Given the description of an element on the screen output the (x, y) to click on. 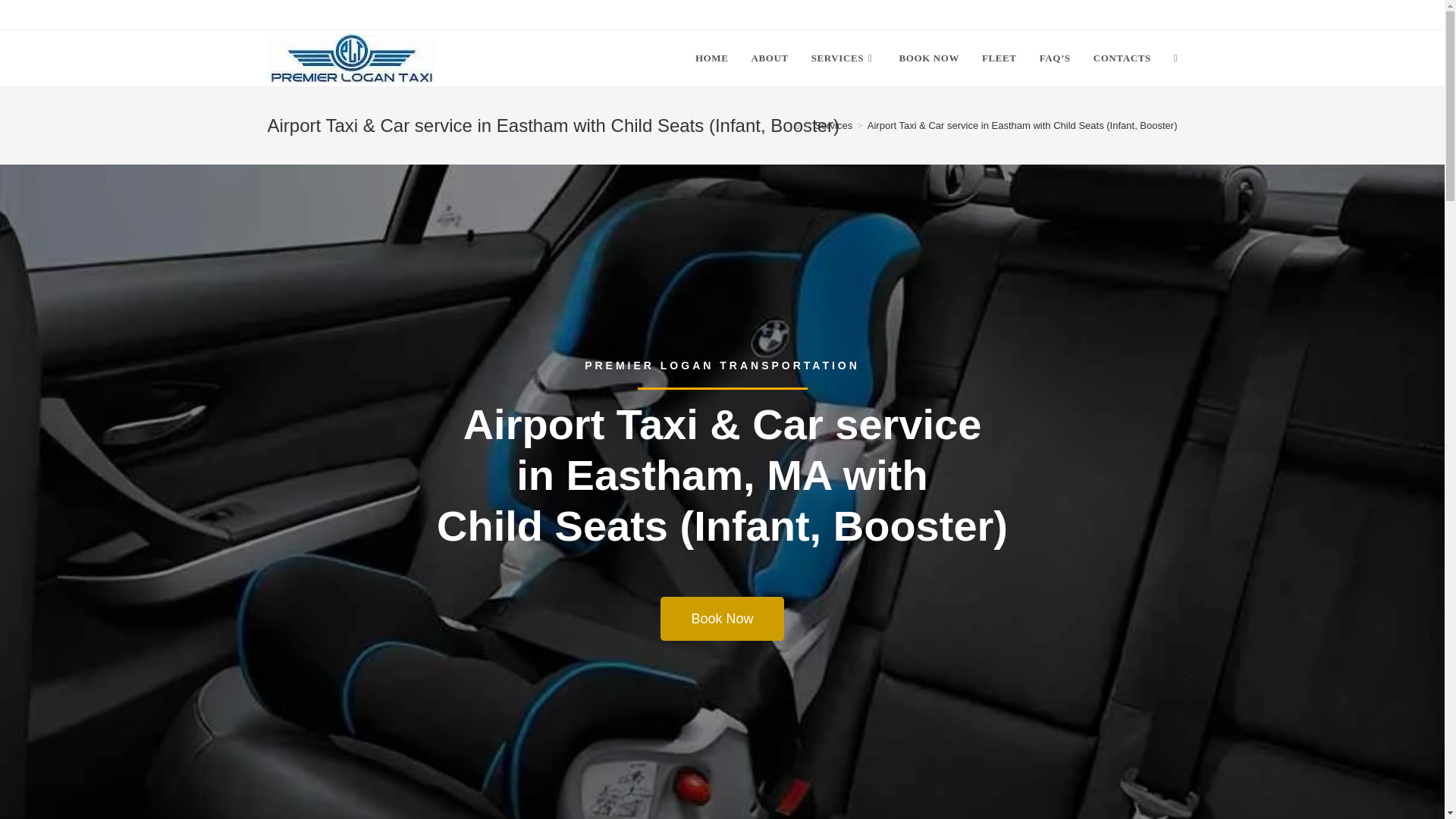
ABOUT (769, 58)
BOOK NOW (928, 58)
Services (832, 125)
Book Now (722, 618)
HOME (711, 58)
CONTACTS (1121, 58)
SERVICES (843, 58)
FLEET (999, 58)
